Given the description of an element on the screen output the (x, y) to click on. 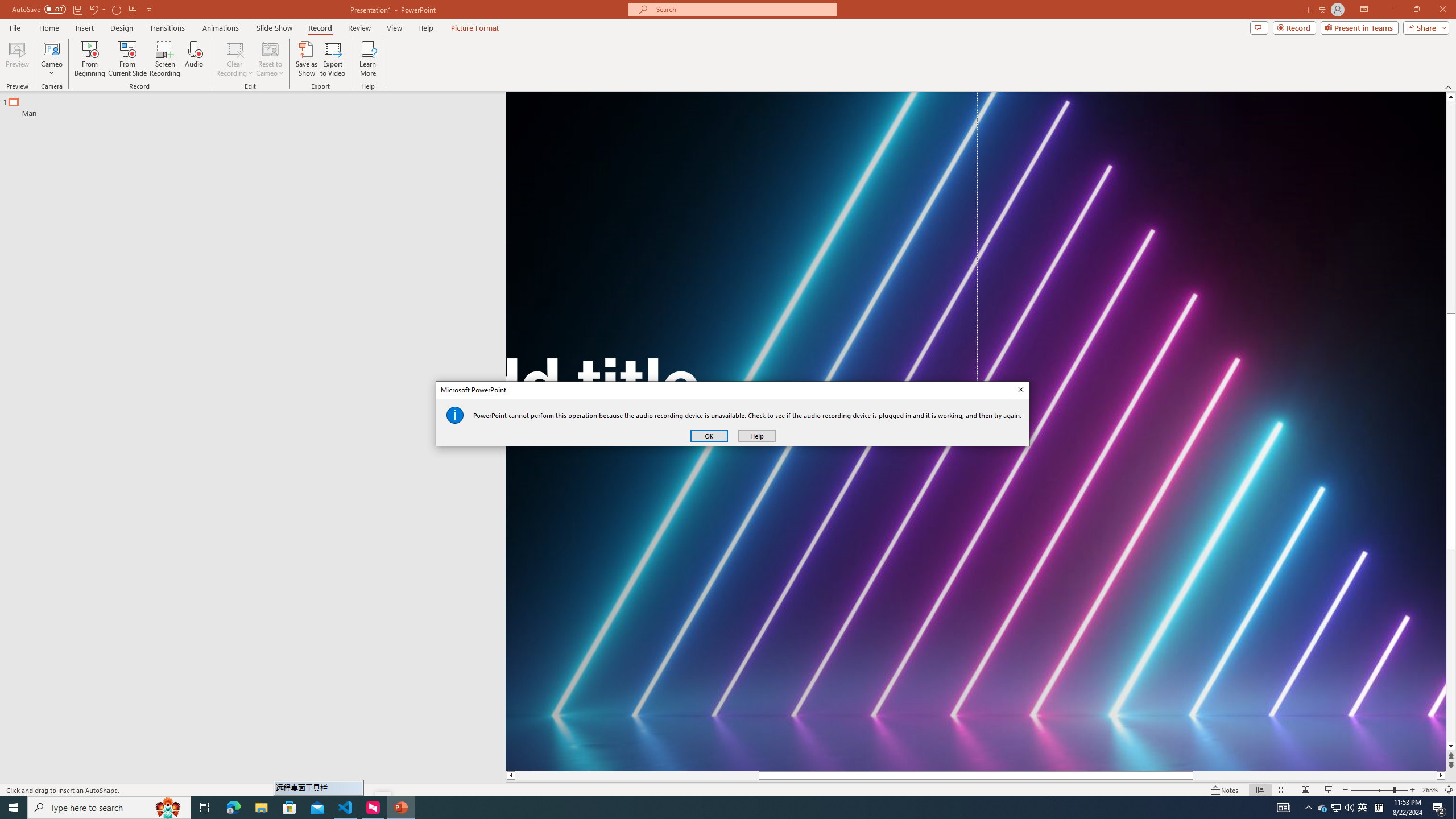
Picture Format (475, 28)
